Given the description of an element on the screen output the (x, y) to click on. 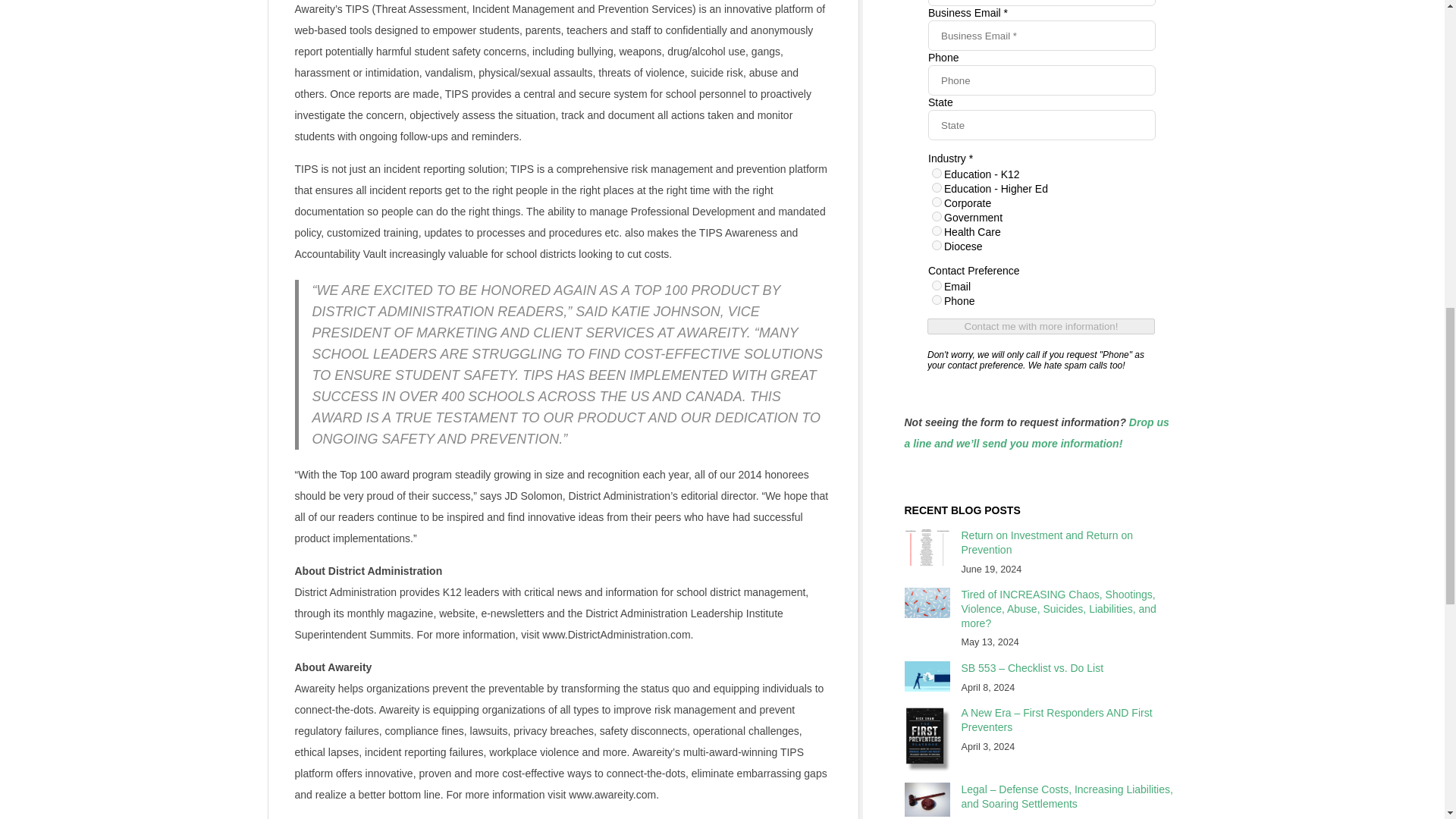
Return on Investment and Return on Prevention (1046, 542)
